Given the description of an element on the screen output the (x, y) to click on. 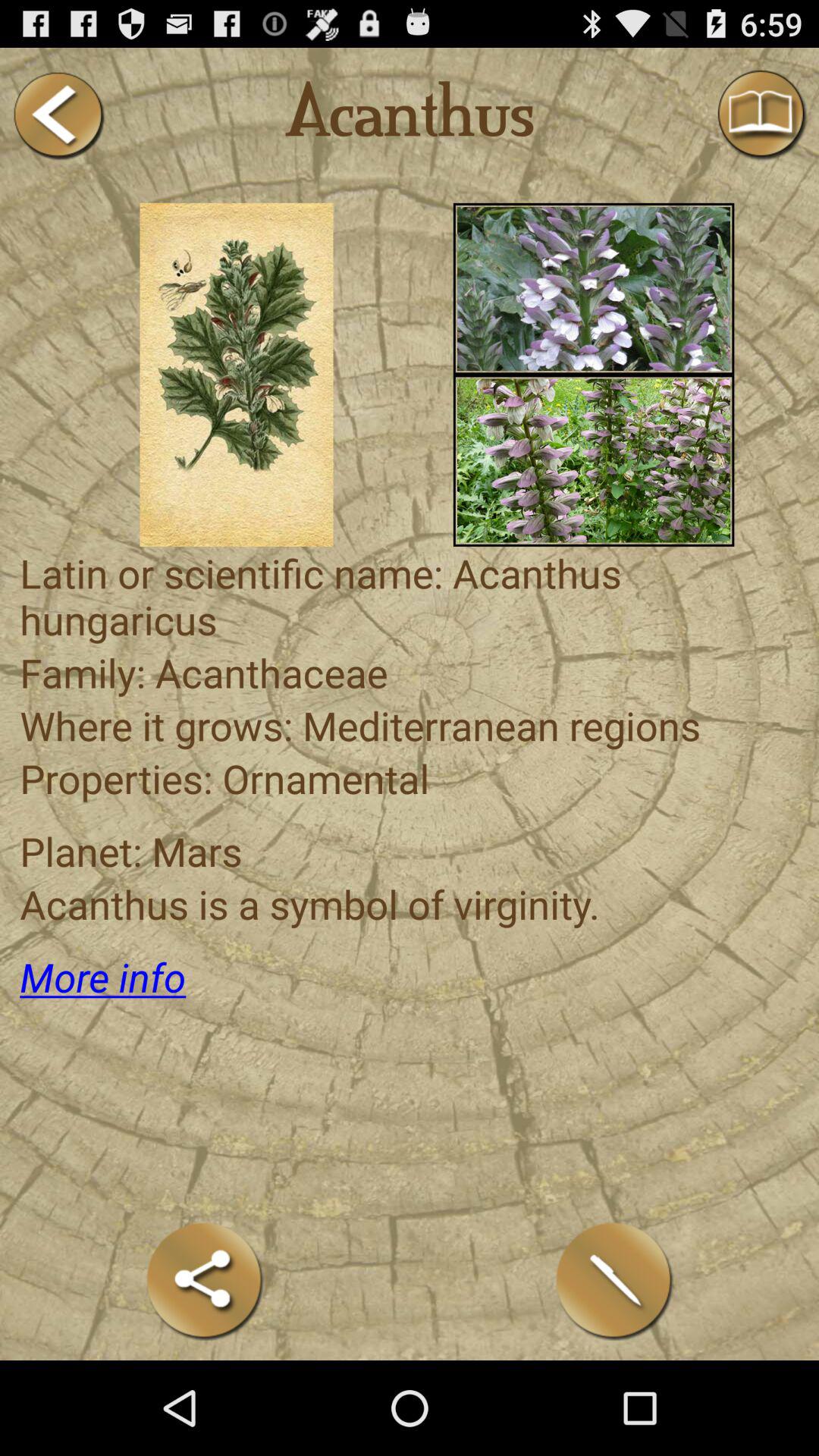
go back (57, 115)
